Given the description of an element on the screen output the (x, y) to click on. 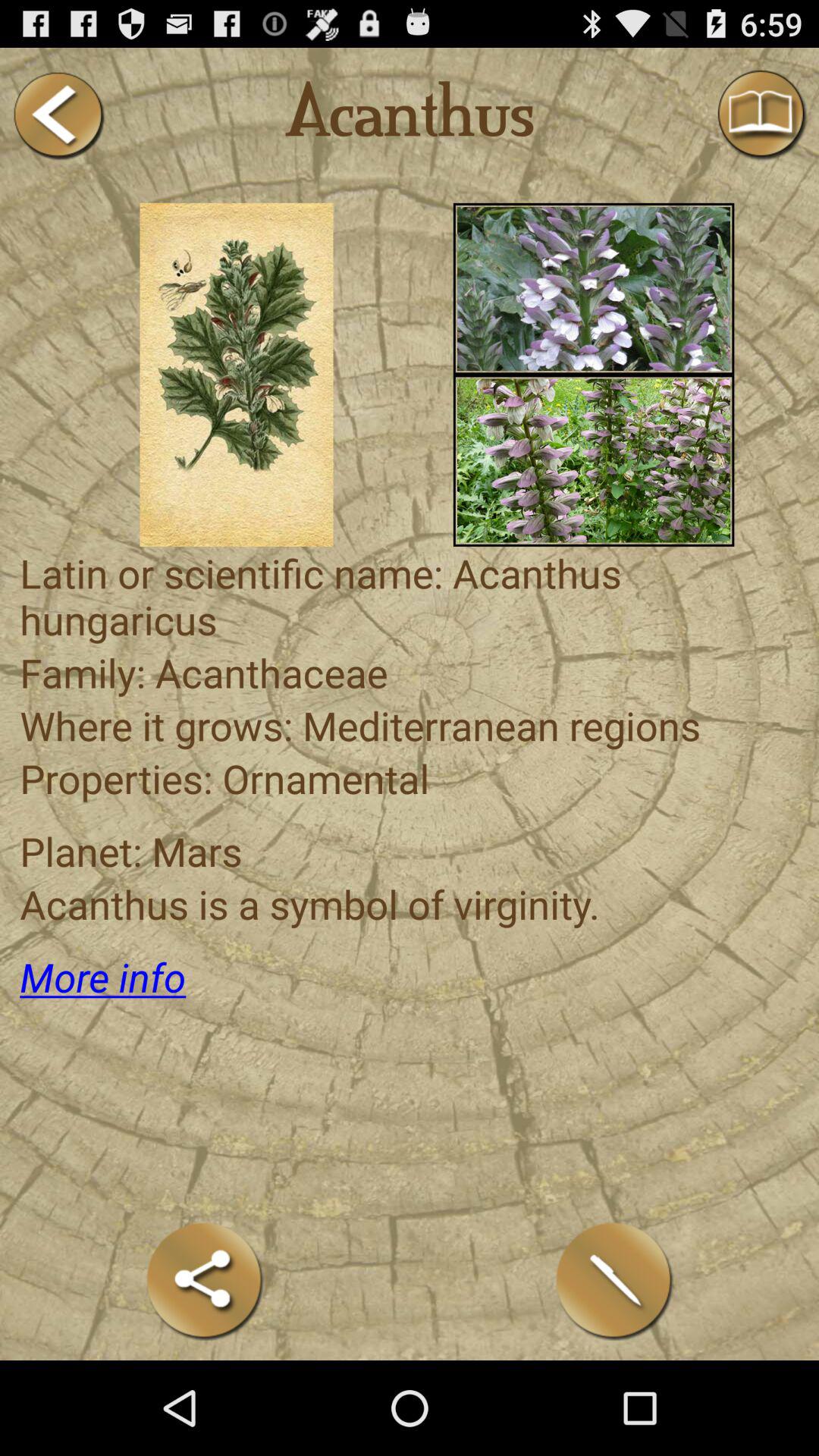
go back (57, 115)
